Given the description of an element on the screen output the (x, y) to click on. 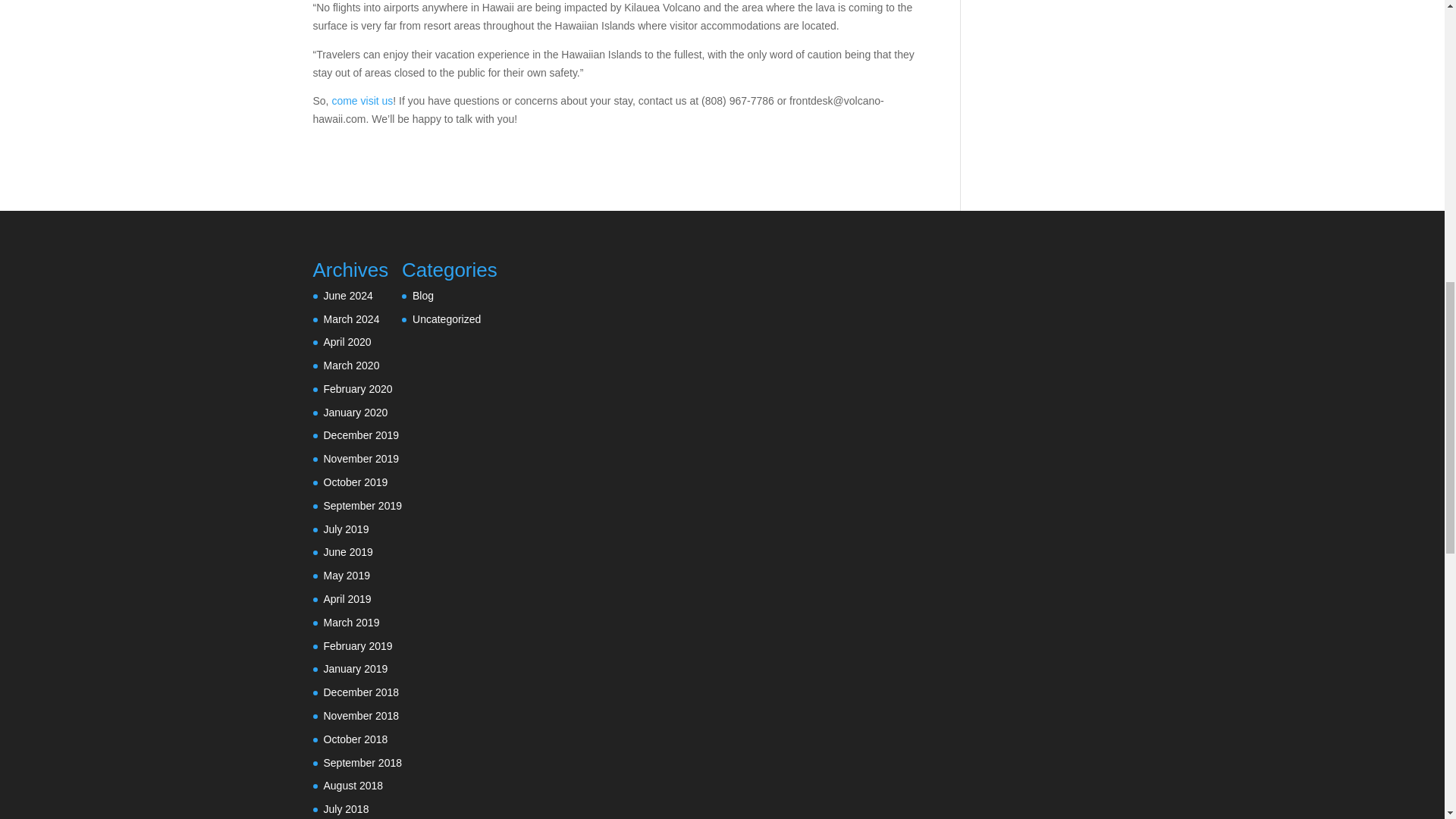
December 2019 (360, 435)
July 2019 (345, 529)
November 2019 (360, 458)
May 2019 (346, 575)
March 2019 (350, 622)
January 2019 (355, 668)
October 2019 (355, 481)
April 2019 (347, 598)
February 2020 (357, 388)
February 2019 (357, 645)
June 2024 (347, 295)
June 2019 (347, 551)
come visit us (362, 101)
April 2020 (347, 341)
March 2024 (350, 318)
